Given the description of an element on the screen output the (x, y) to click on. 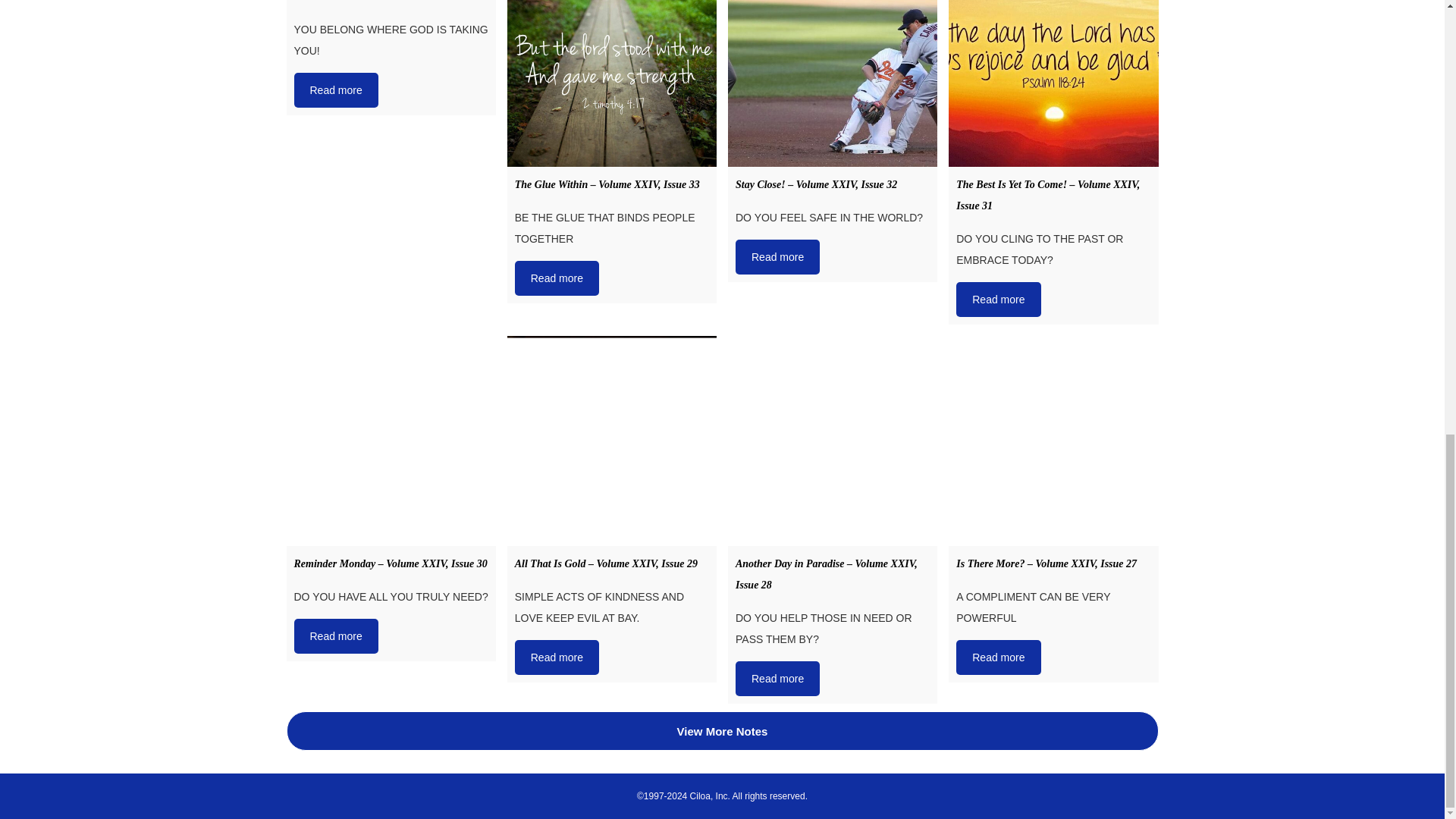
Read more (336, 89)
Read more (777, 256)
Read more (556, 278)
